Given the description of an element on the screen output the (x, y) to click on. 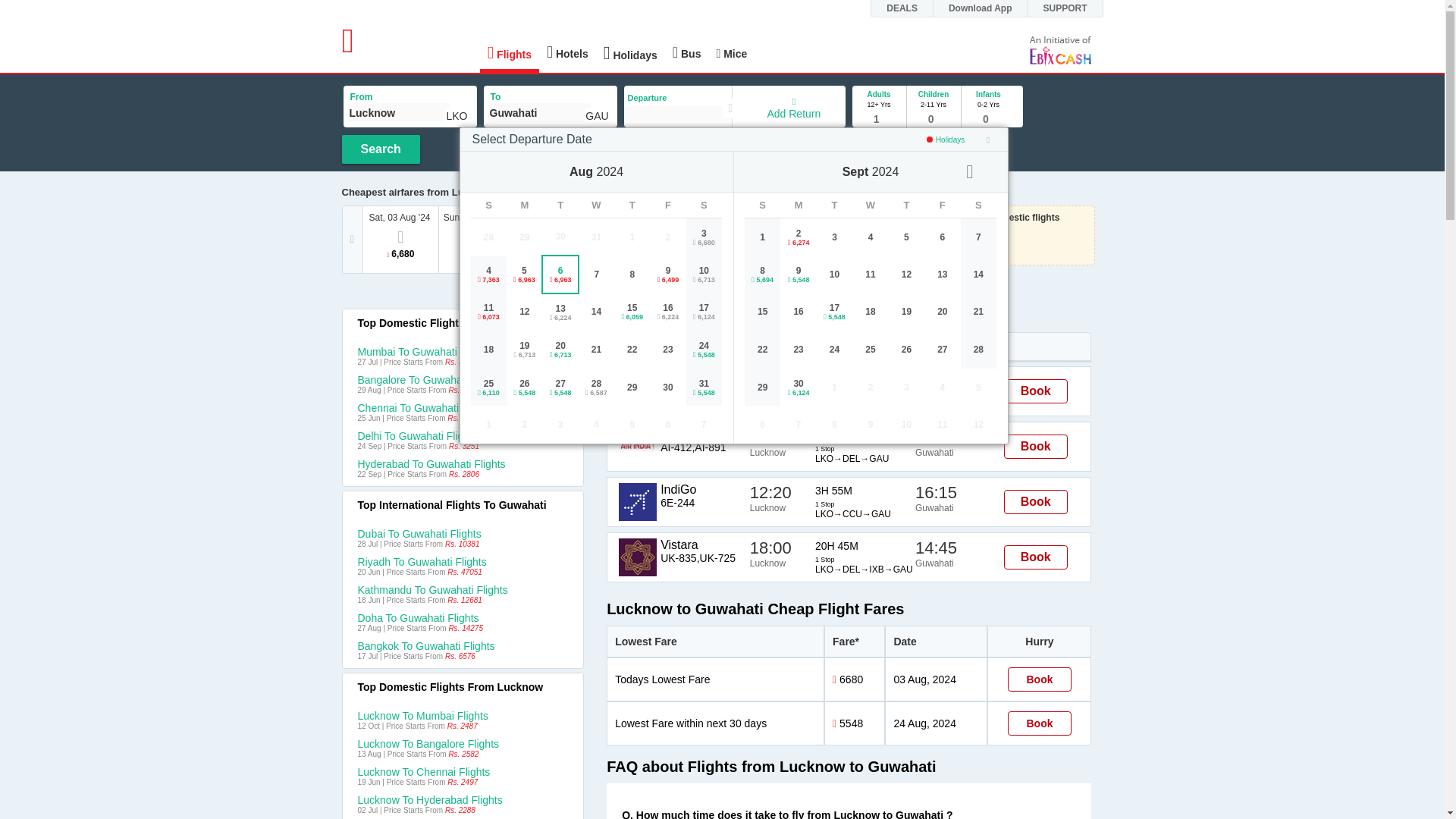
Lucknow (398, 112)
Book (1035, 501)
Kathmandu To Guwahati Flights (463, 589)
Book (1035, 391)
Guwahati (537, 112)
Hotels (566, 51)
Riyadh To Guwahati Flights (463, 562)
Bus (687, 51)
Book (1039, 679)
DEALS (909, 8)
Download App (988, 8)
Chennai To Guwahati Flights (463, 408)
Delhi To Guwahati Flights (463, 435)
SUPPORT (1072, 8)
LKO (456, 115)
